Given the description of an element on the screen output the (x, y) to click on. 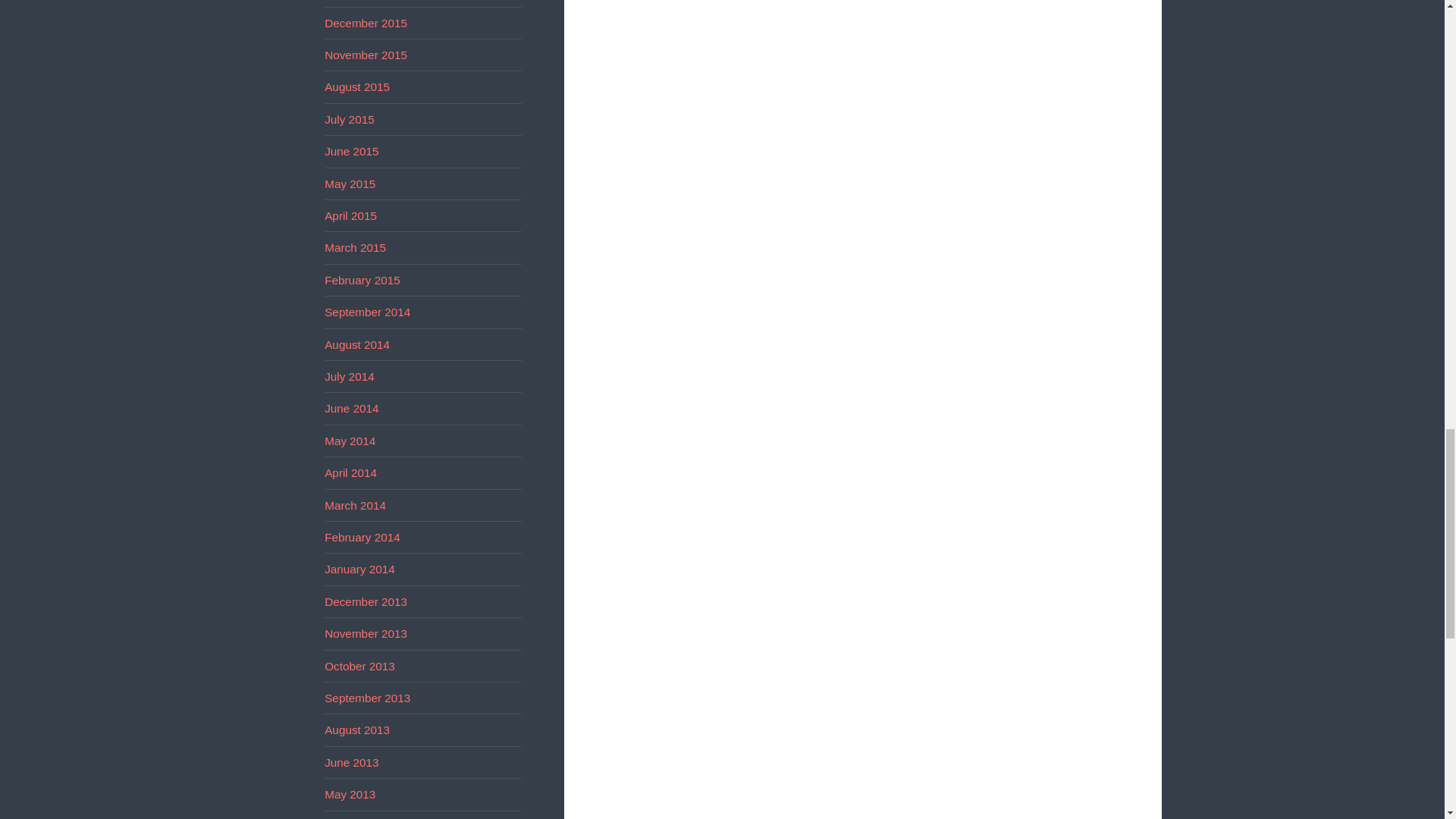
July 2015 (349, 119)
December 2015 (365, 22)
May 2015 (349, 183)
November 2015 (365, 54)
April 2015 (350, 215)
March 2015 (354, 246)
June 2015 (351, 151)
August 2015 (357, 86)
